Given the description of an element on the screen output the (x, y) to click on. 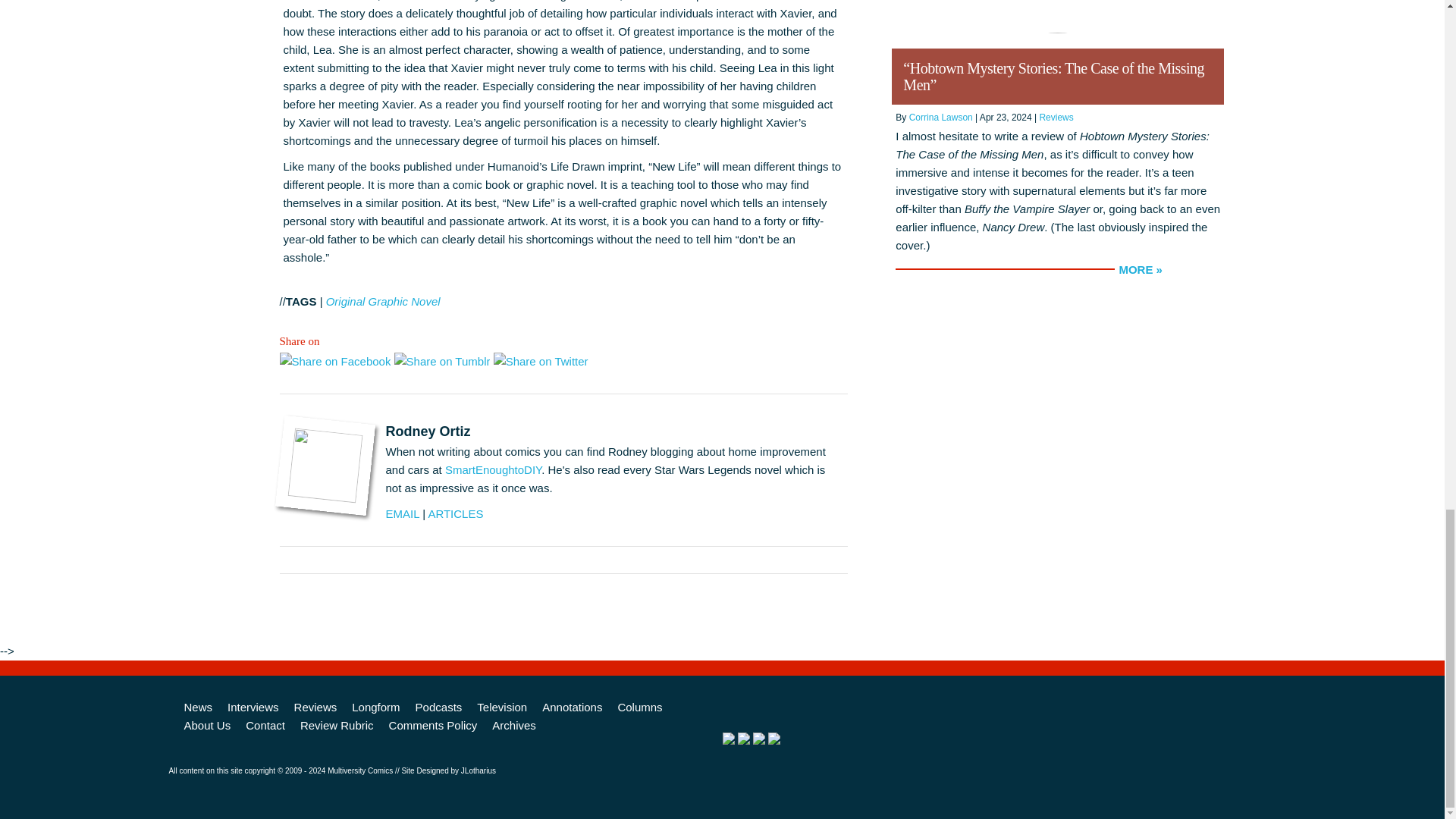
News (197, 707)
Interviews (253, 707)
SmartEnoughtoDIY (493, 469)
Posts by Corrina Lawson (940, 117)
ARTICLES (455, 513)
Podcasts (438, 707)
EMAIL (402, 513)
Reviews (1056, 117)
Longform (375, 707)
Corrina Lawson (940, 117)
Original Graphic Novel (383, 300)
Reviews (315, 707)
